Given the description of an element on the screen output the (x, y) to click on. 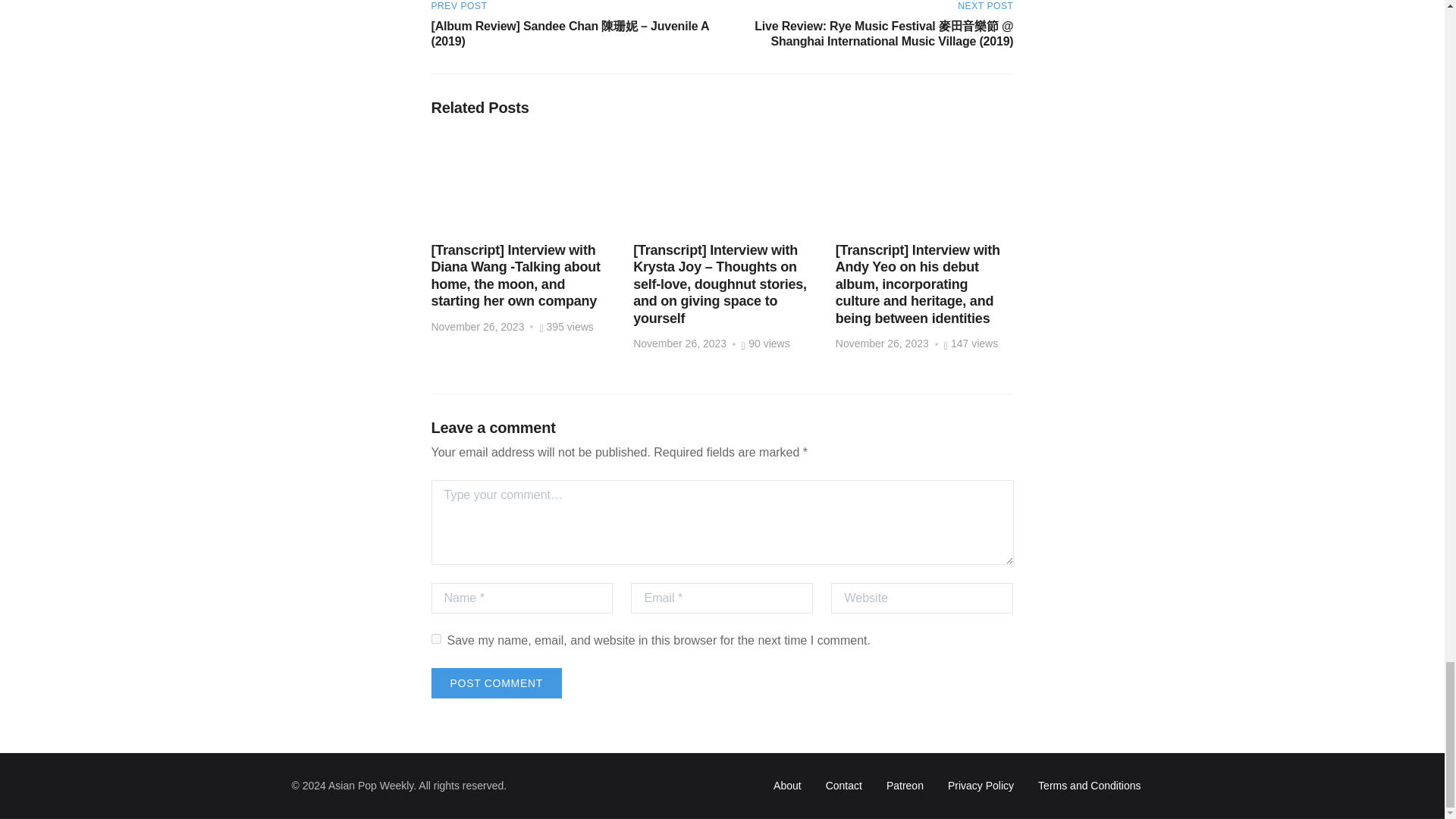
yes (435, 638)
Post Comment (495, 683)
